Given the description of an element on the screen output the (x, y) to click on. 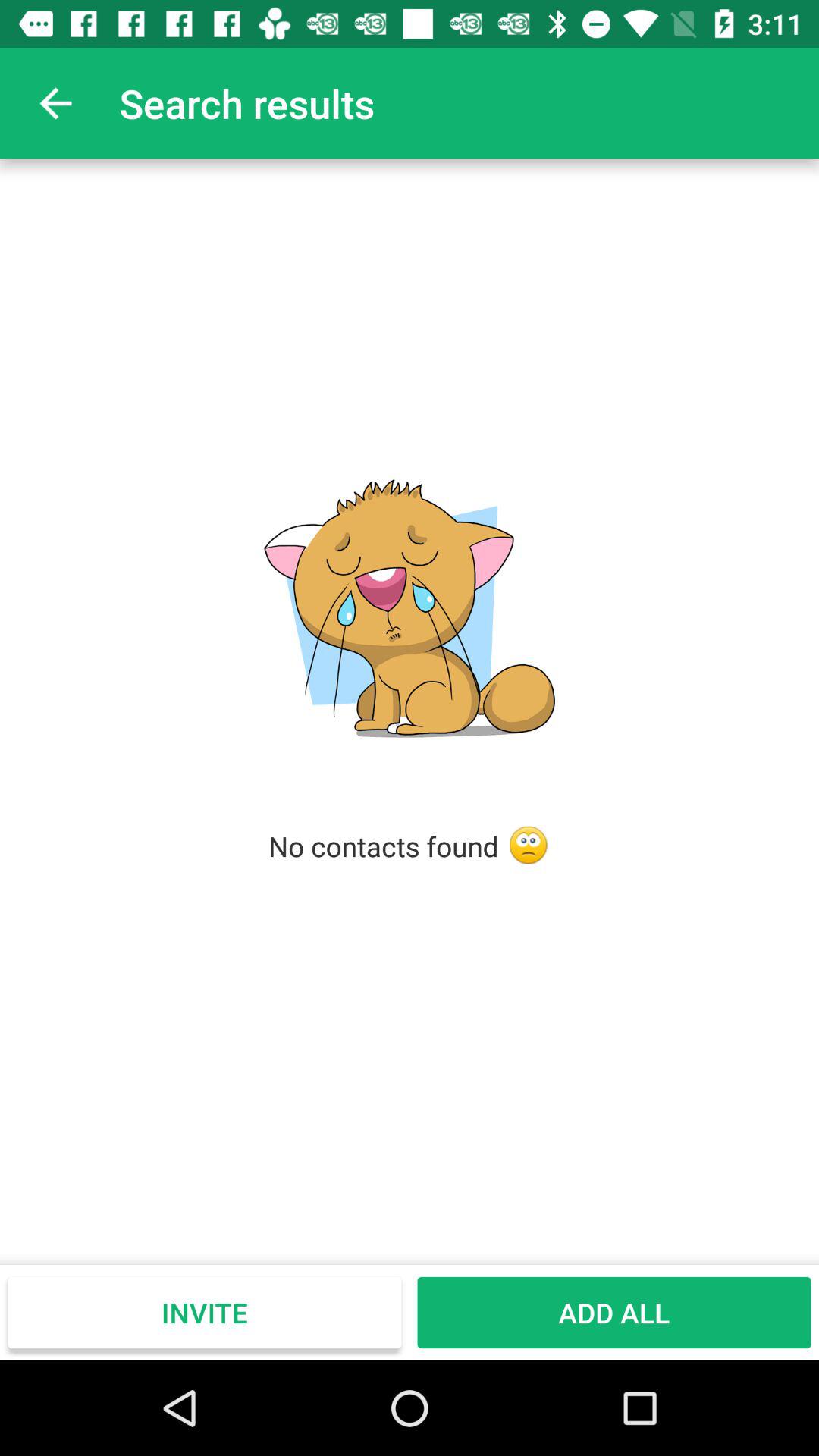
swipe until the invite item (204, 1312)
